Given the description of an element on the screen output the (x, y) to click on. 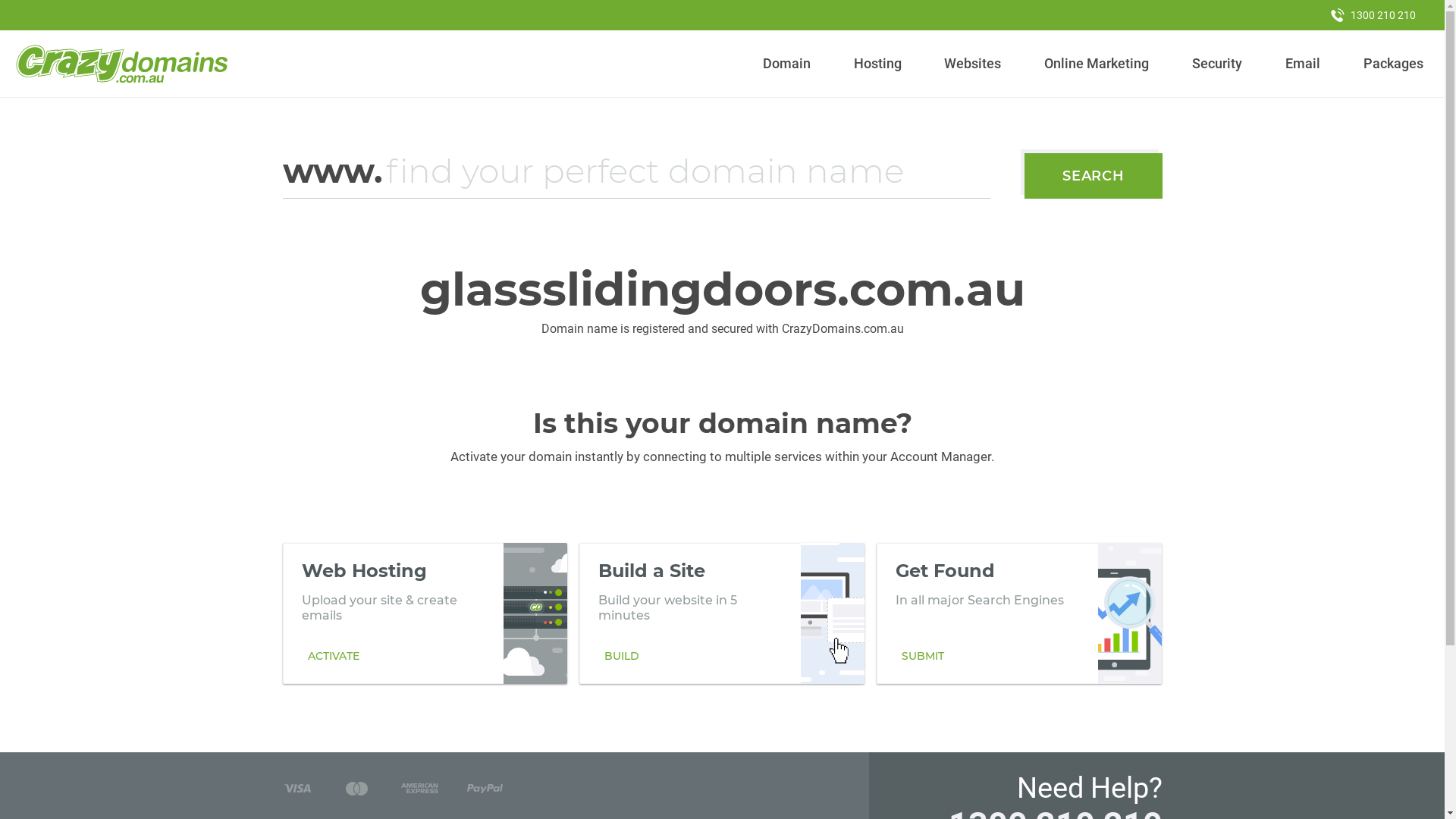
Email Element type: text (1302, 63)
Packages Element type: text (1392, 63)
Online Marketing Element type: text (1096, 63)
Domain Element type: text (786, 63)
1300 210 210 Element type: text (1373, 15)
Build a Site
Build your website in 5 minutes
BUILD Element type: text (721, 613)
Security Element type: text (1217, 63)
SEARCH Element type: text (1092, 175)
Get Found
In all major Search Engines
SUBMIT Element type: text (1018, 613)
Hosting Element type: text (877, 63)
Websites Element type: text (972, 63)
Web Hosting
Upload your site & create emails
ACTIVATE Element type: text (424, 613)
